Given the description of an element on the screen output the (x, y) to click on. 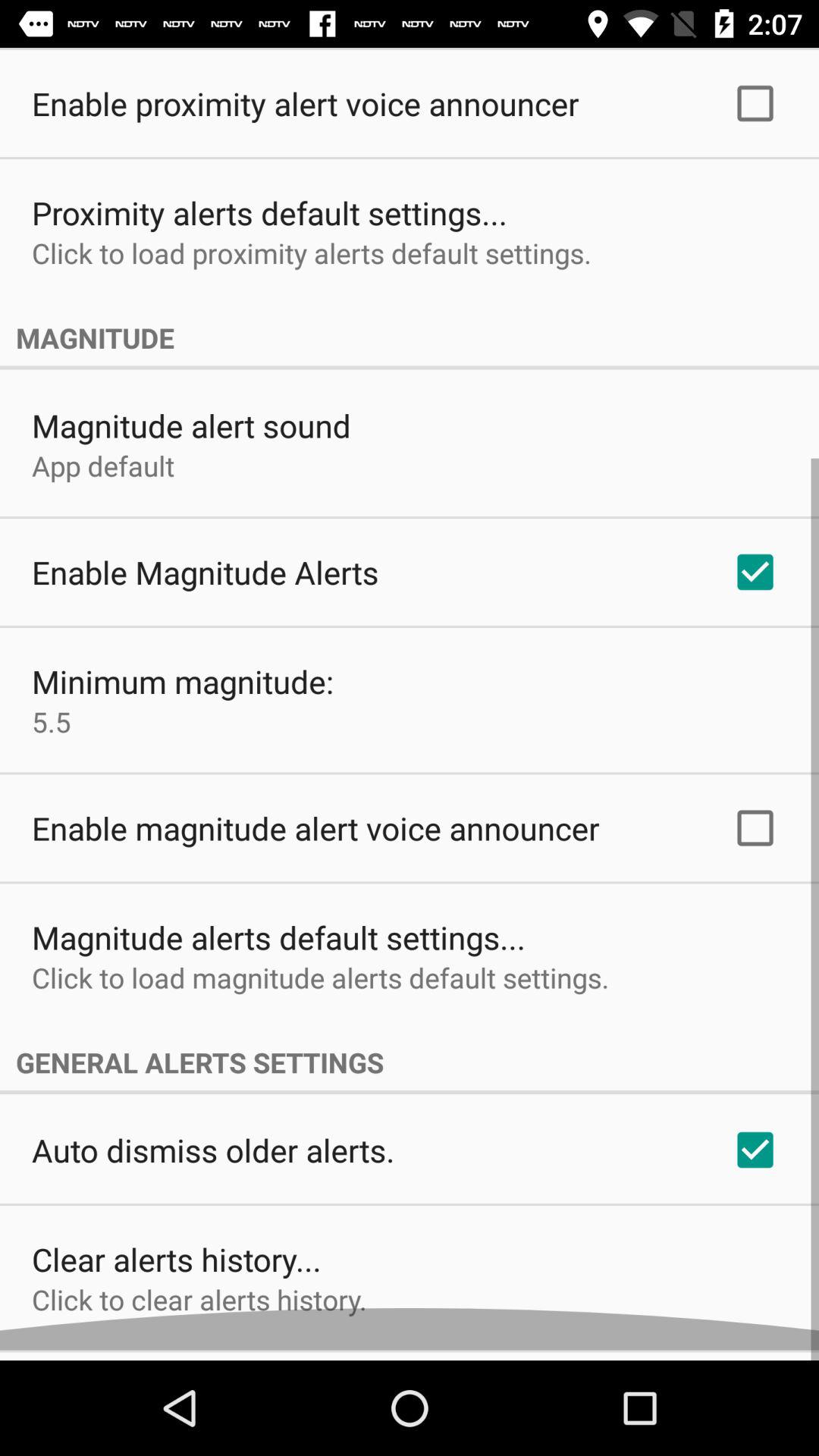
launch the app default icon (102, 475)
